Given the description of an element on the screen output the (x, y) to click on. 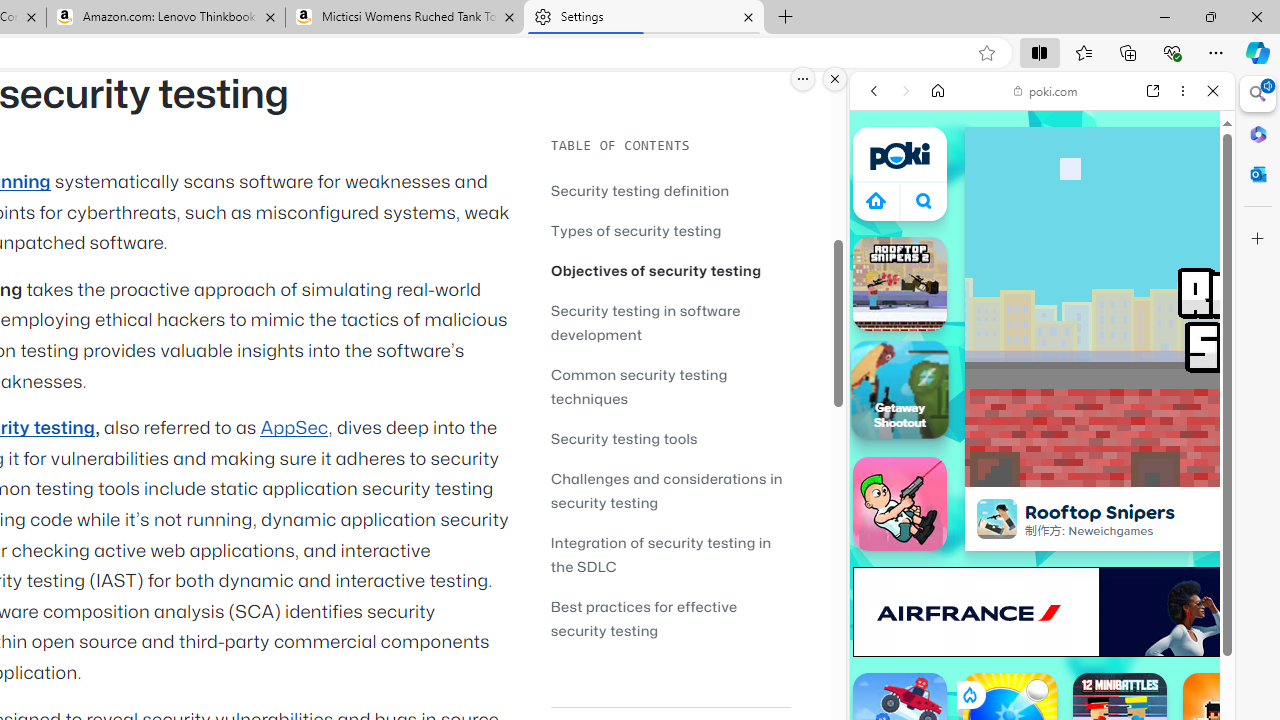
Car Games (1042, 470)
AppSec (293, 428)
Poki - Free Online Games - Play Now! (1034, 309)
Security testing definition (639, 190)
Class: hvLtMSipvVng82x9Seuh (997, 519)
Search Filter, Search Tools (1093, 228)
Class: B_5ykBA46kDOxiz_R9wm (923, 200)
